Given the description of an element on the screen output the (x, y) to click on. 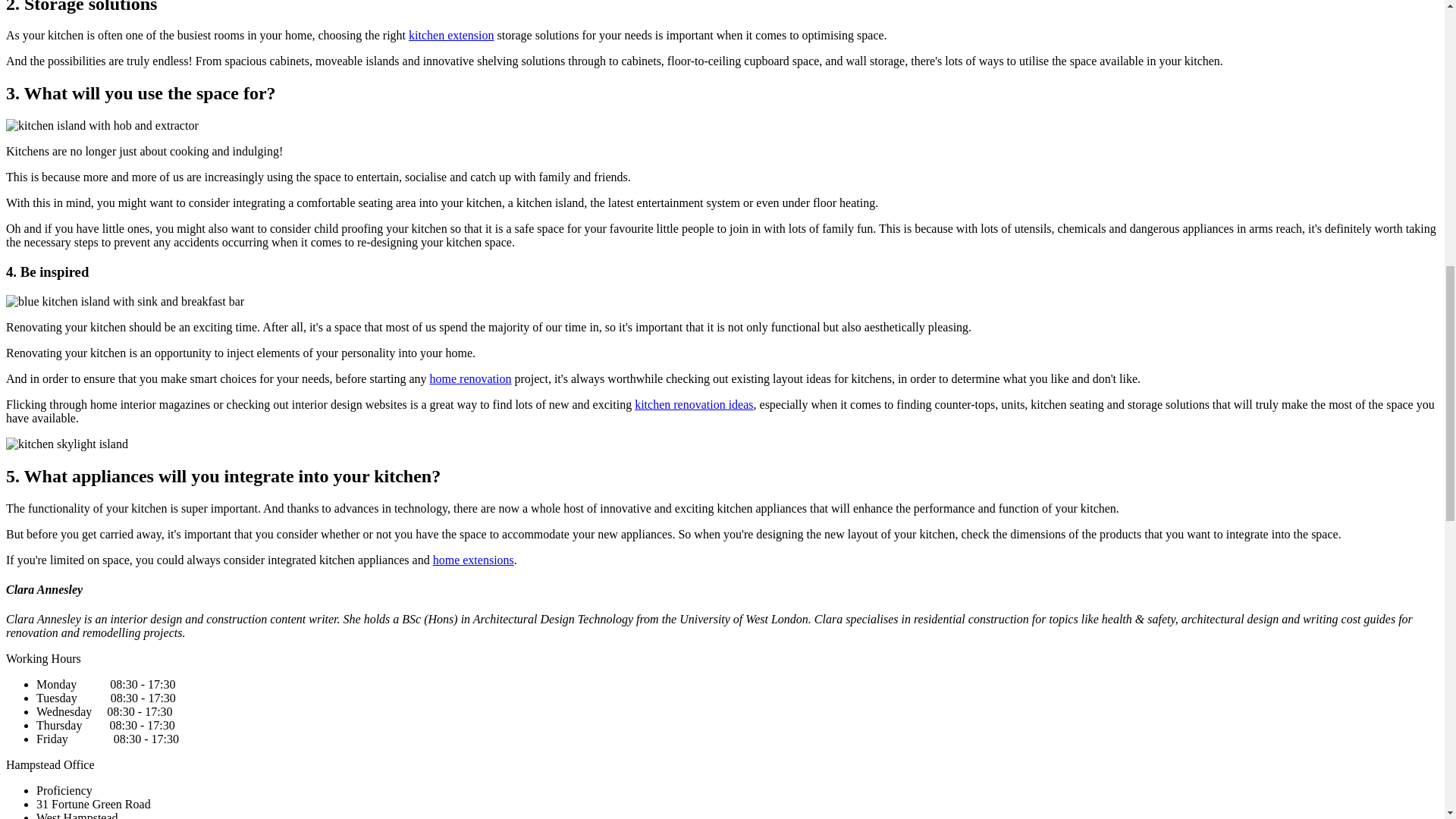
kitchen renovation ideas (693, 404)
kitchen extension (451, 34)
home renovation (470, 378)
home extensions (472, 559)
